Given the description of an element on the screen output the (x, y) to click on. 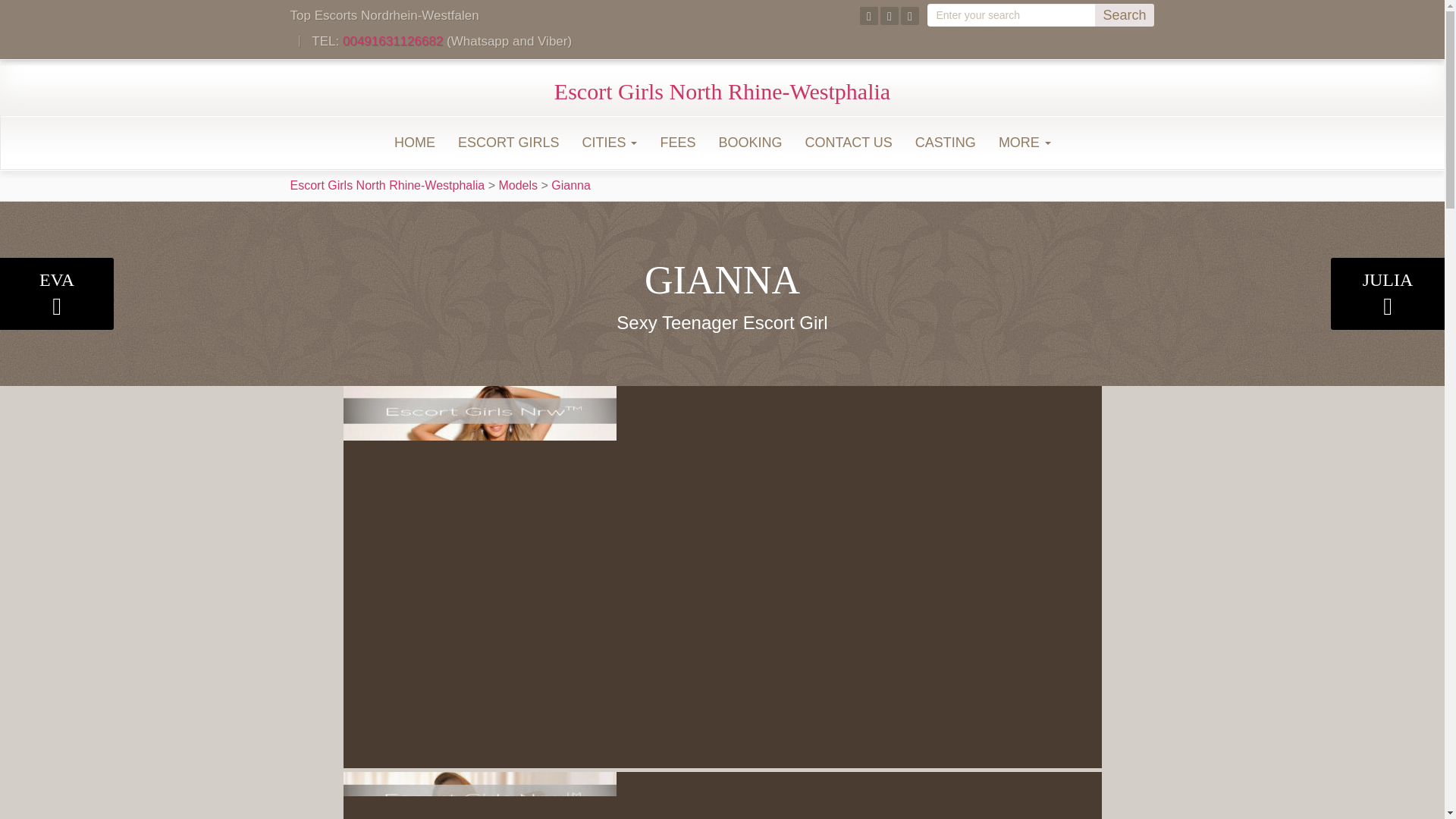
CITIES (608, 142)
HOME (414, 142)
Cities (608, 142)
ESCORT GIRLS (508, 142)
Deutsch (1141, 87)
Search (1123, 15)
00491631126682 (392, 41)
Escort Girls (508, 142)
Home (414, 142)
Escort Girls North Rhine-Westphalia (721, 91)
